Given the description of an element on the screen output the (x, y) to click on. 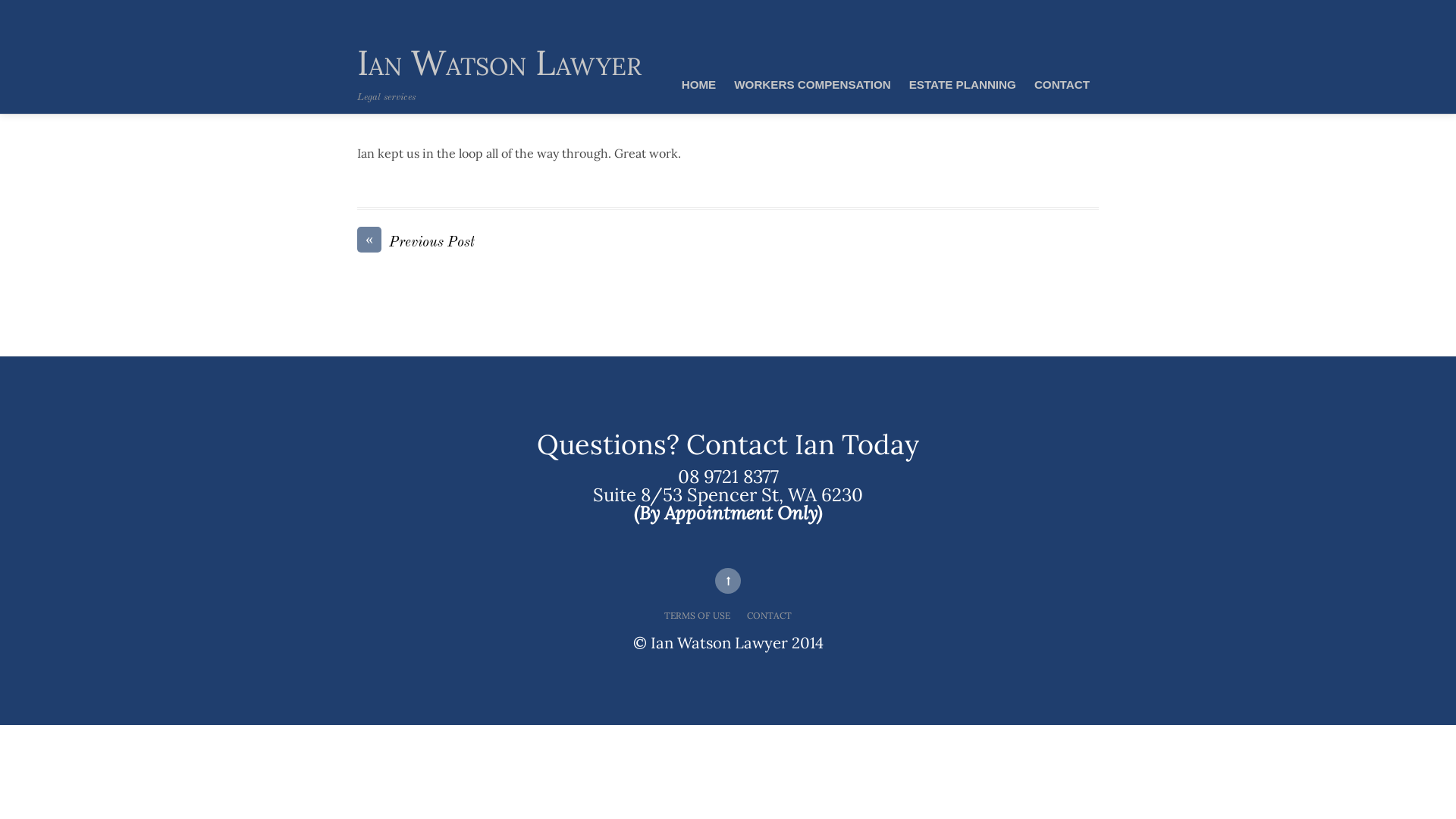
CONTACT Element type: text (768, 615)
HOME Element type: text (698, 84)
TERMS OF USE Element type: text (697, 615)
CONTACT Element type: text (1061, 84)
Ian Watson Lawyer Element type: text (499, 62)
WORKERS COMPENSATION Element type: text (811, 84)
ESTATE PLANNING Element type: text (962, 84)
